Given the description of an element on the screen output the (x, y) to click on. 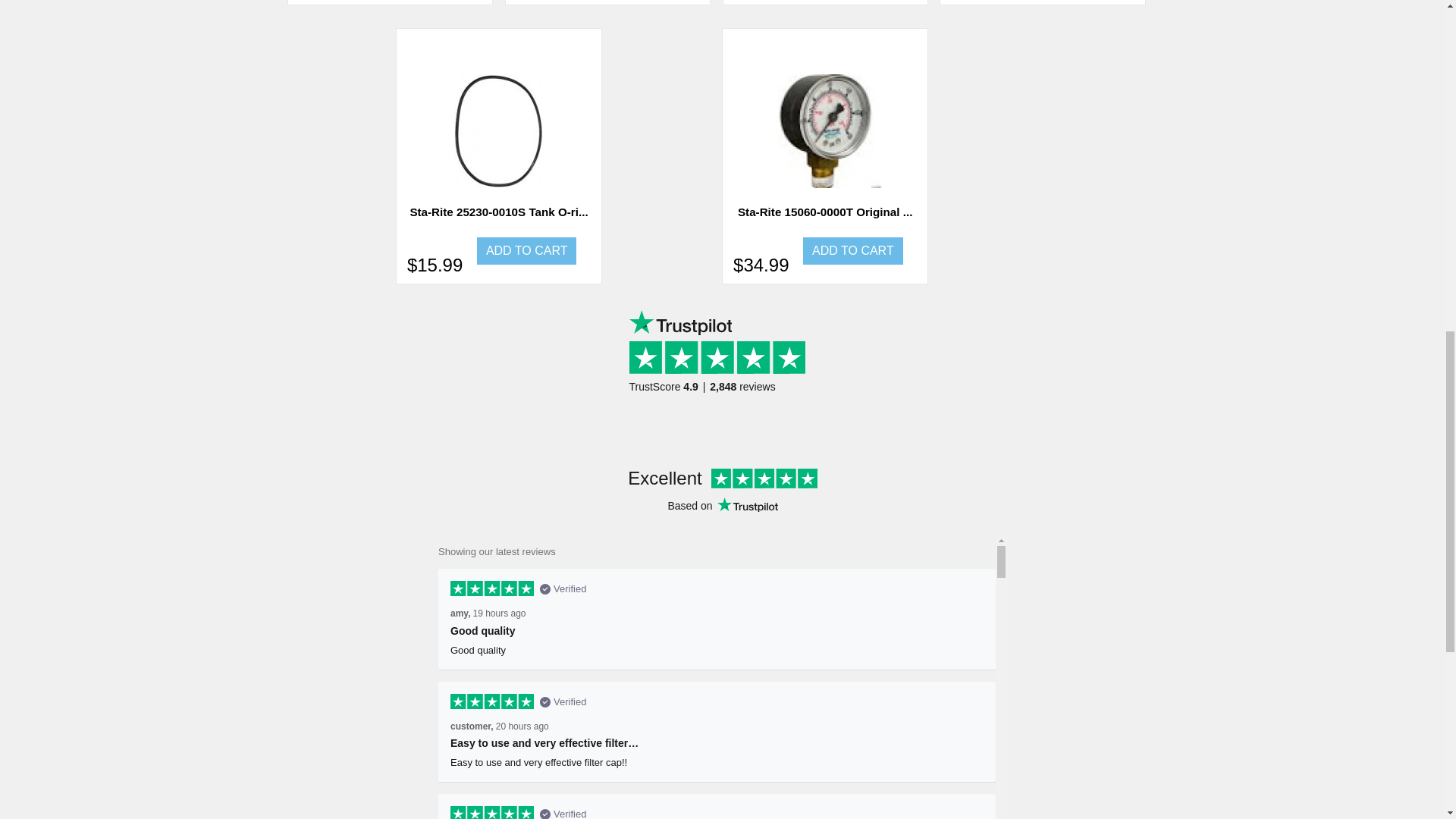
Sta-Rite 25230-0010S PosiClear Filter Tank O-ring (499, 131)
Customer reviews powered by Trustpilot (722, 363)
Add to Cart (526, 250)
Add to Cart (852, 250)
